Given the description of an element on the screen output the (x, y) to click on. 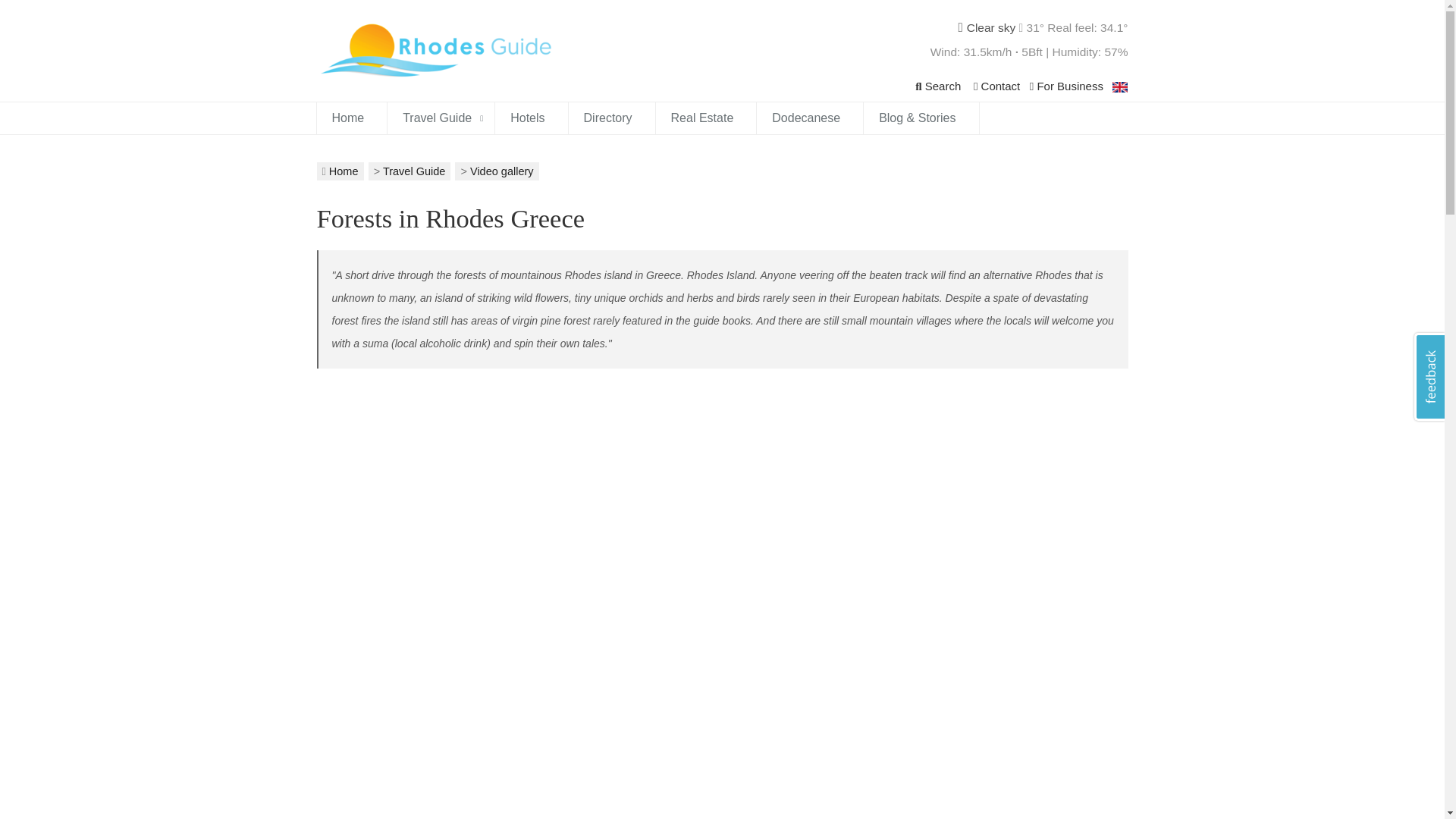
Contact (998, 85)
Hotels (531, 117)
Real Estate (706, 117)
For Business (1067, 85)
Search (939, 85)
Home (343, 171)
Travel Guide (441, 117)
Directory (612, 117)
Home (352, 117)
Travel Guide (413, 171)
Dodecanese (810, 117)
